Given the description of an element on the screen output the (x, y) to click on. 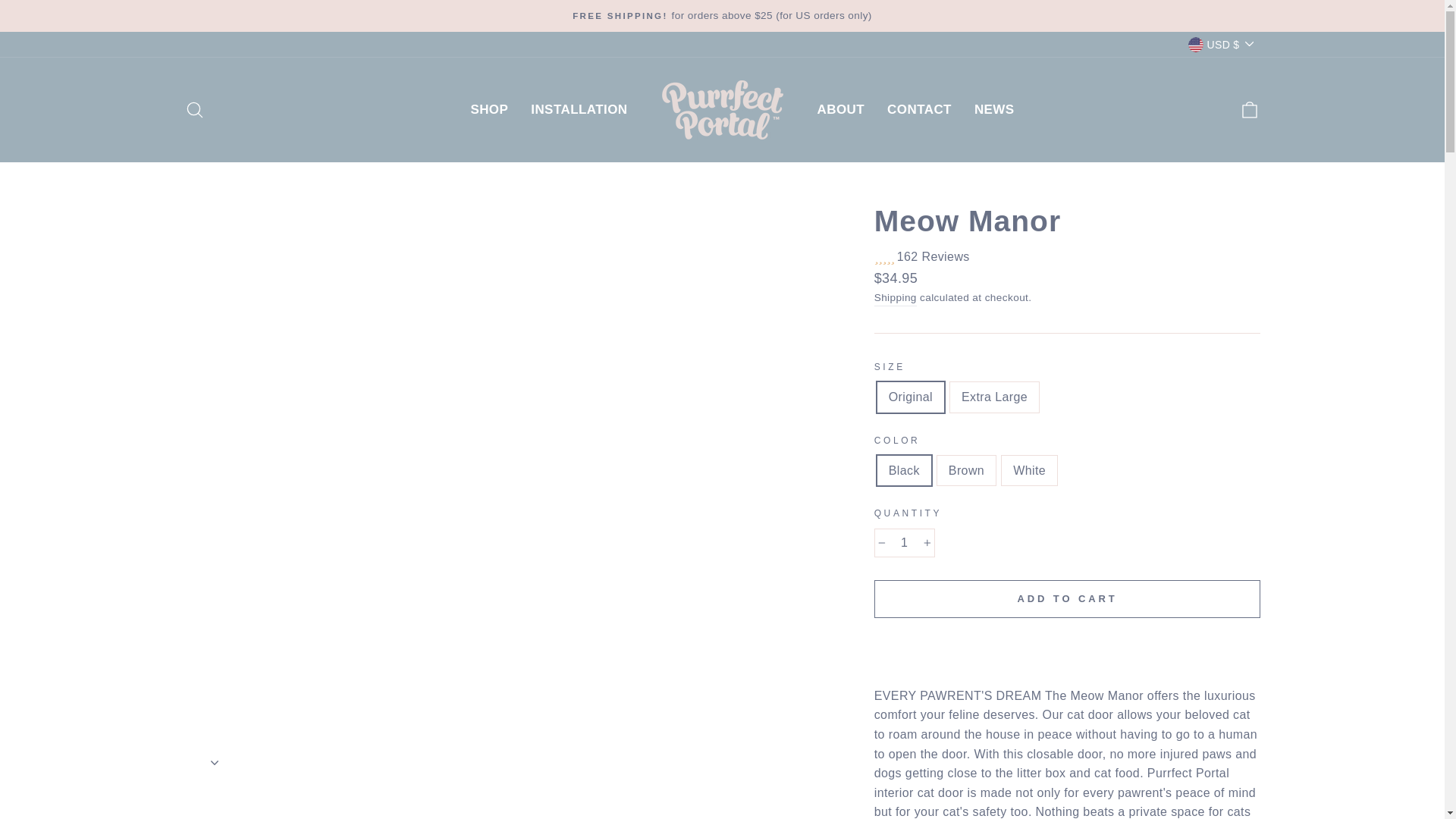
1 (904, 542)
